Given the description of an element on the screen output the (x, y) to click on. 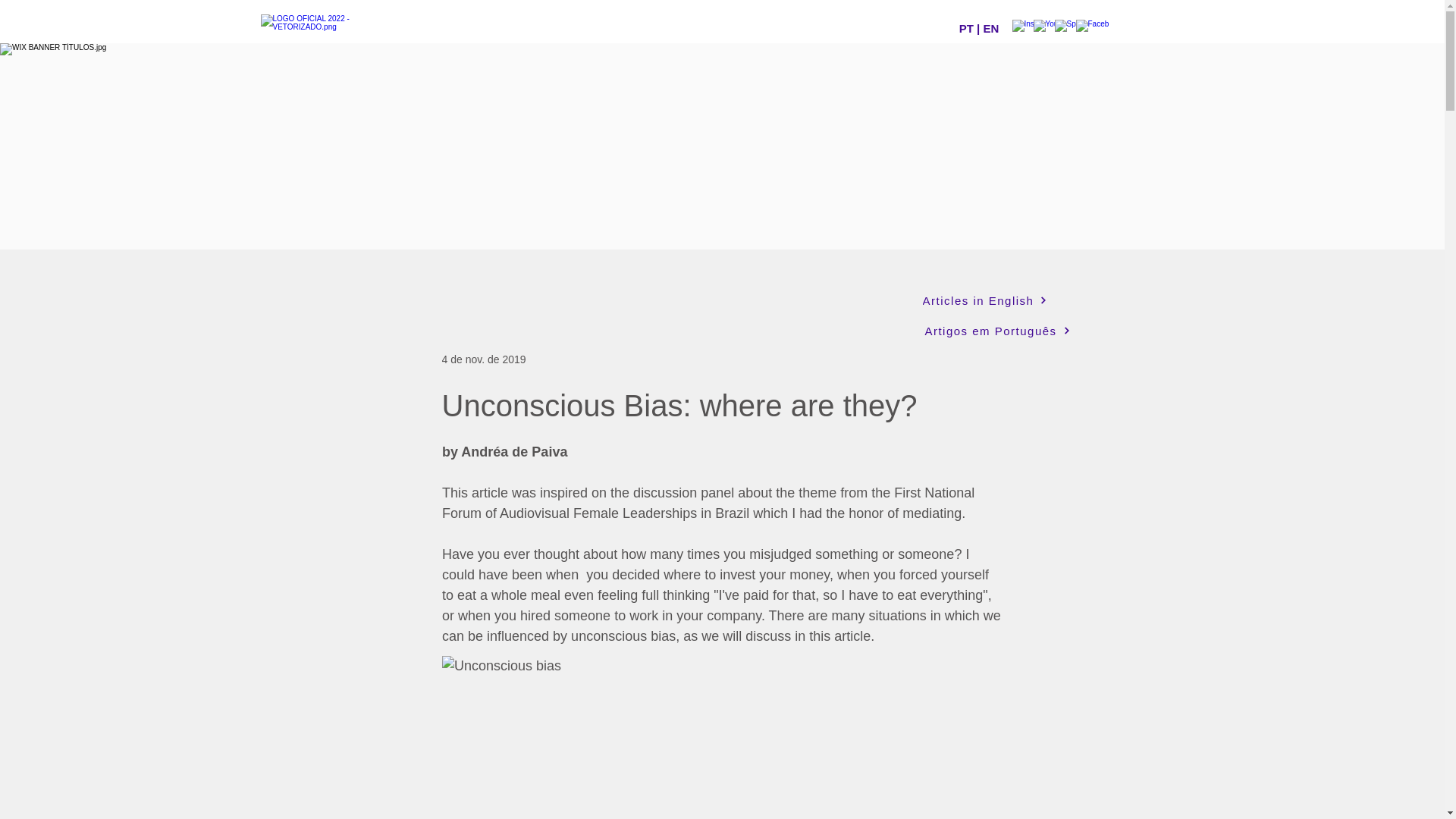
PT (966, 28)
EN (990, 28)
Articles in English (984, 300)
4 de nov. de 2019 (483, 358)
